Given the description of an element on the screen output the (x, y) to click on. 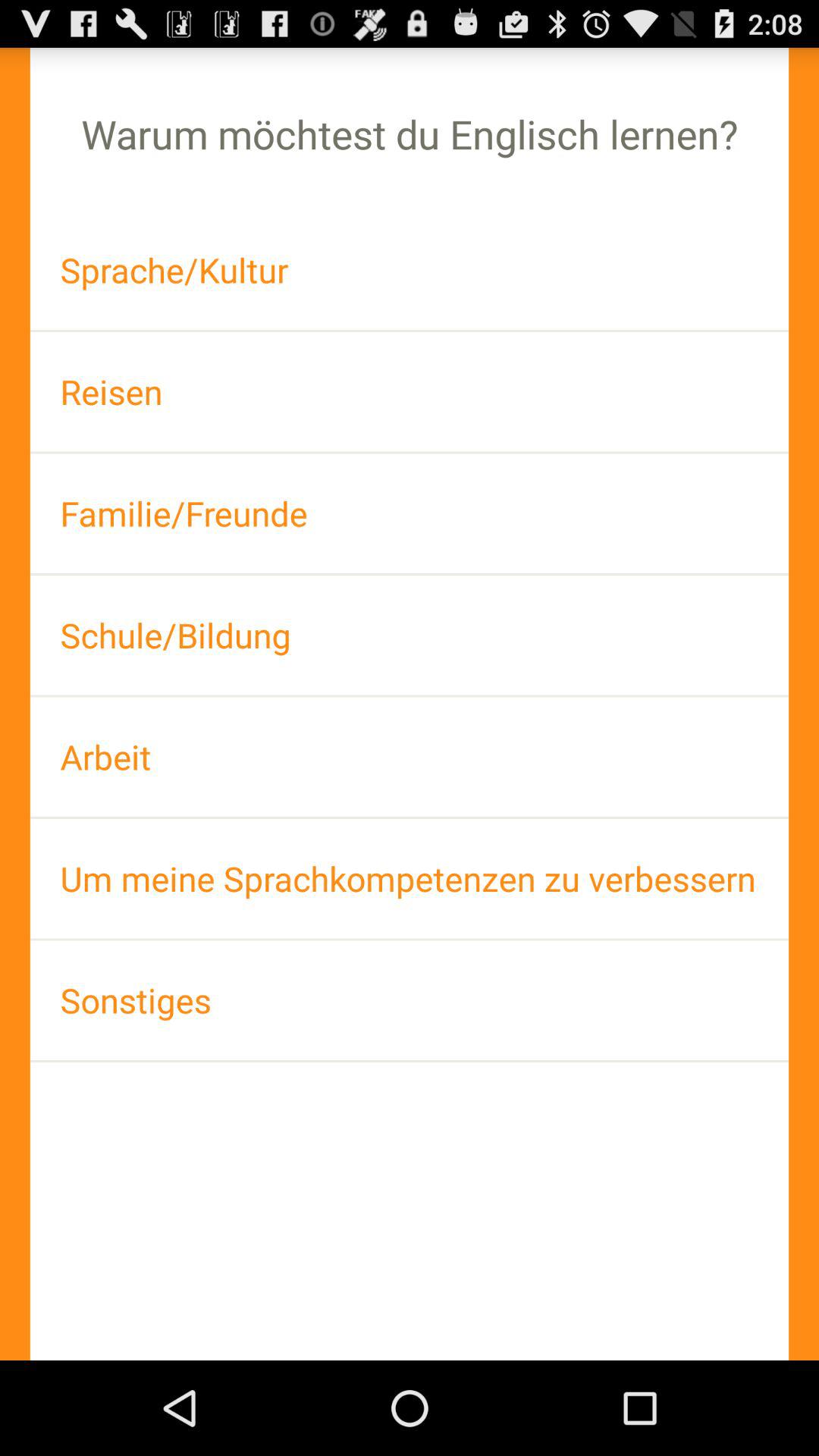
click item above the sonstiges icon (409, 878)
